Given the description of an element on the screen output the (x, y) to click on. 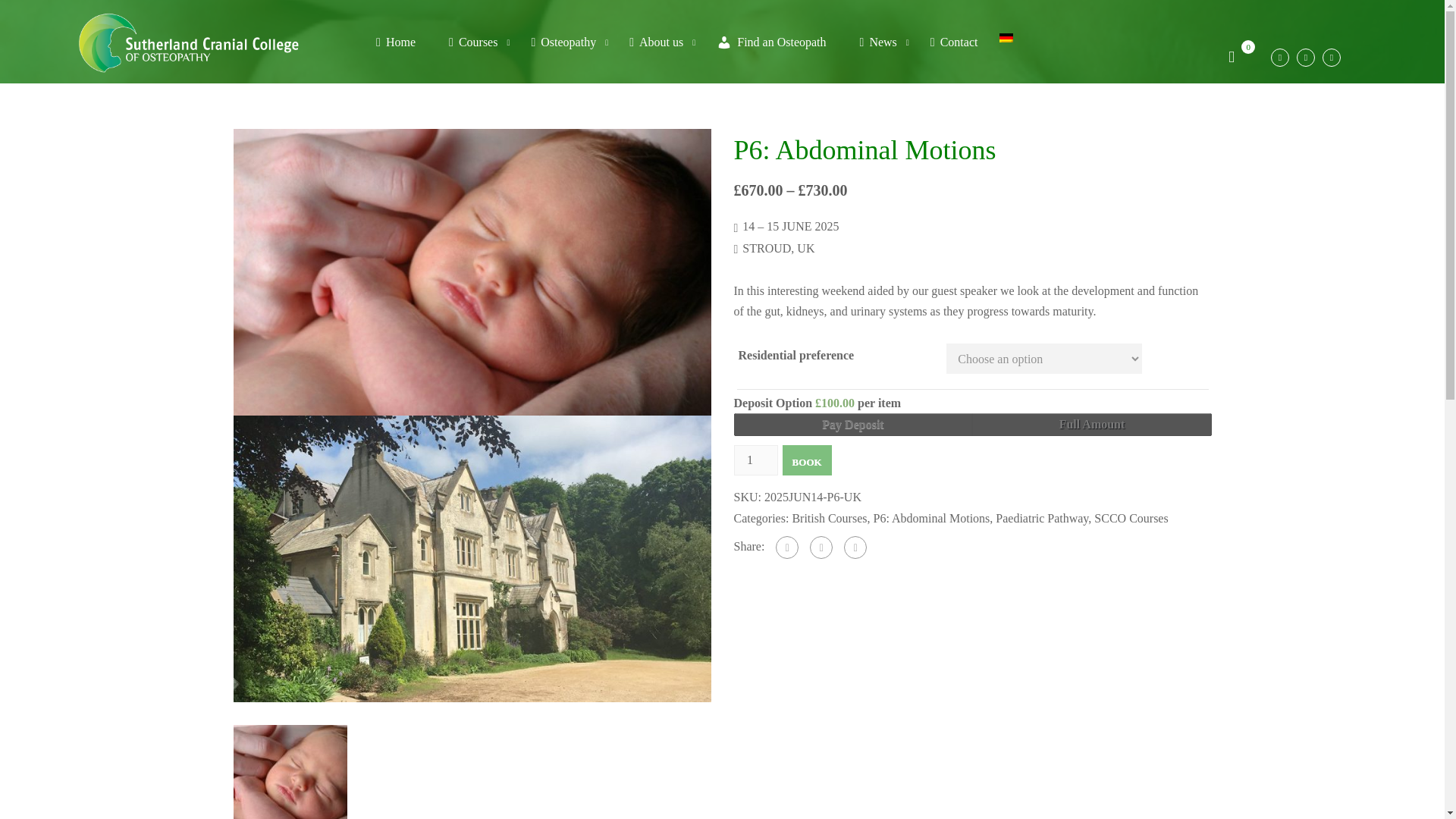
Hawkwood College (471, 557)
Twitter (820, 547)
Facebook (786, 547)
1 (755, 460)
Qty (755, 460)
Pinterest (855, 547)
